Given the description of an element on the screen output the (x, y) to click on. 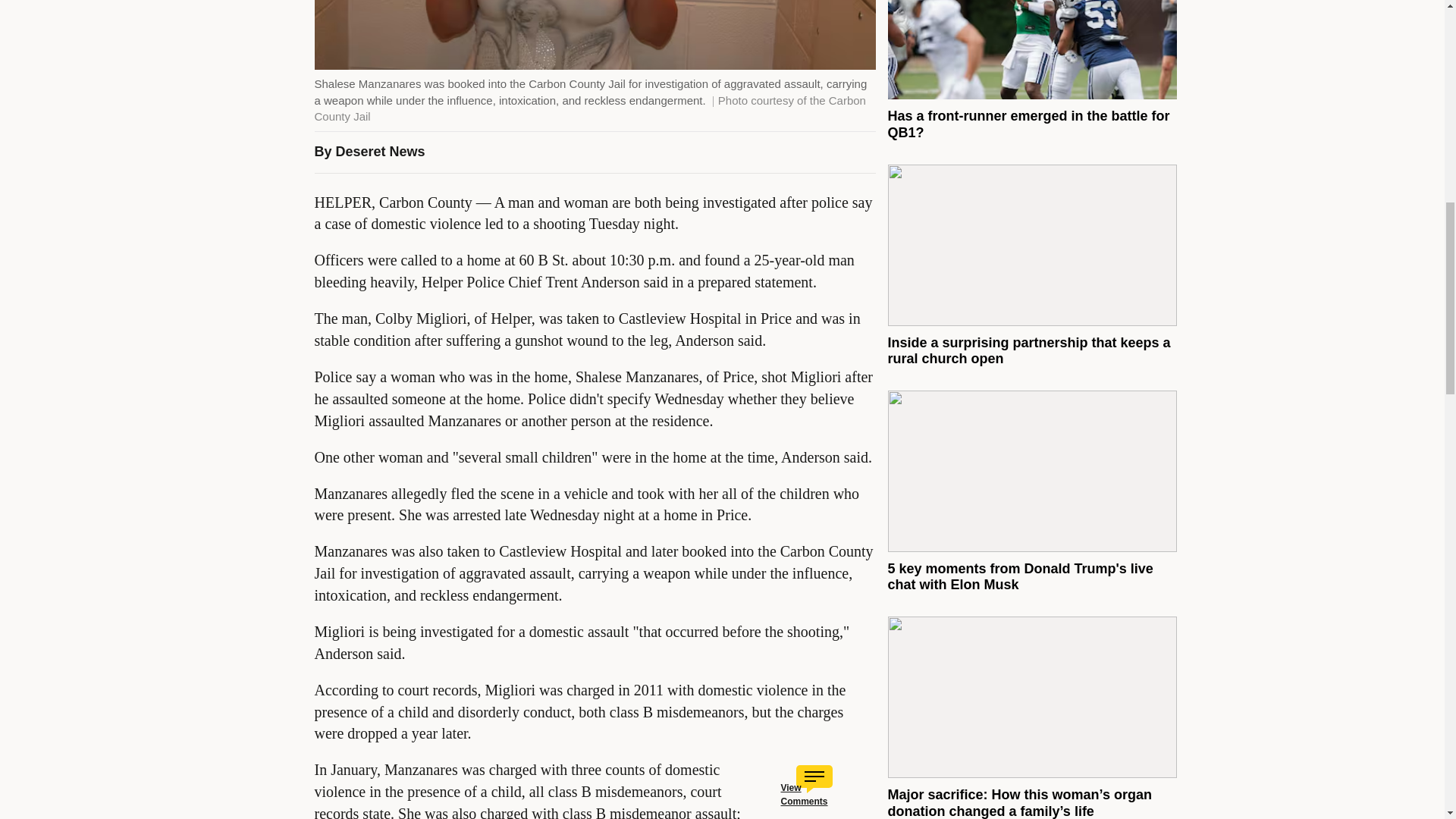
5 key moments from Donald Trump's live chat with Elon Musk (1019, 576)
Has a front-runner emerged in the battle for QB1? (1027, 124)
Deseret News (380, 151)
